Given the description of an element on the screen output the (x, y) to click on. 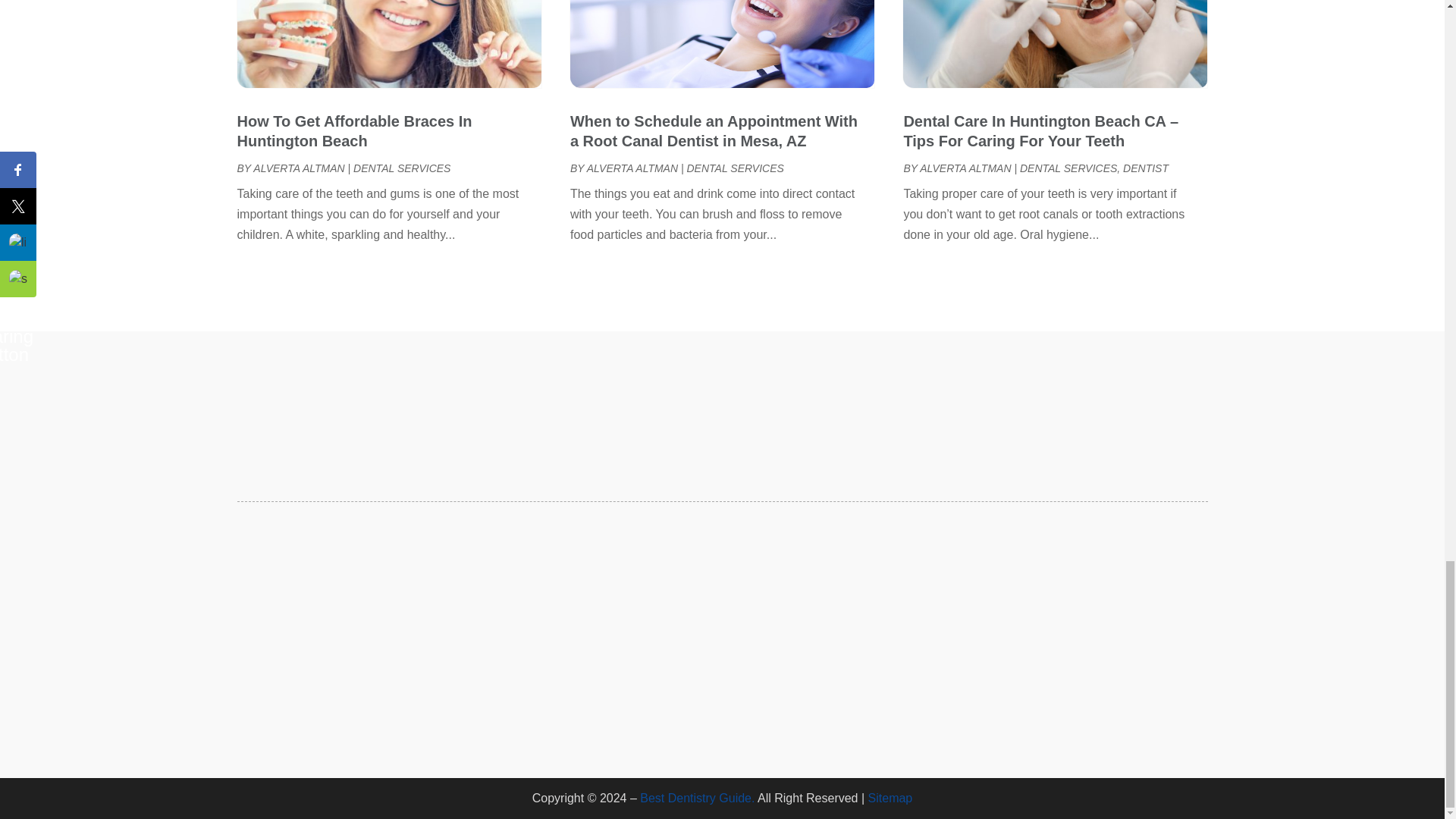
Posts by Alverta Altman (965, 168)
Posts by Alverta Altman (298, 168)
Posts by Alverta Altman (632, 168)
